Given the description of an element on the screen output the (x, y) to click on. 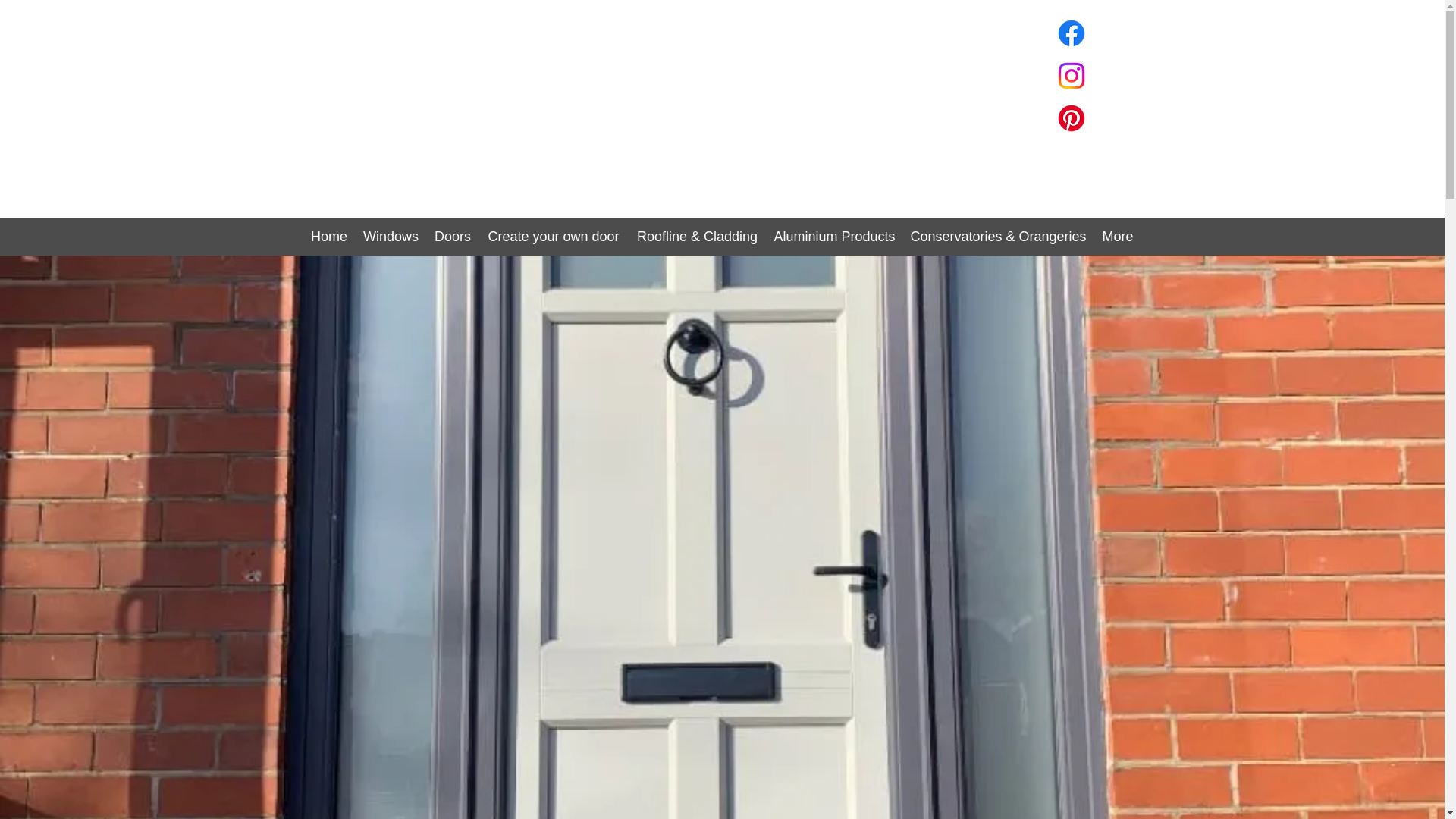
Aluminium Products (833, 236)
Home (328, 236)
Create your own door (553, 236)
Windows (390, 236)
Doors (452, 236)
